Given the description of an element on the screen output the (x, y) to click on. 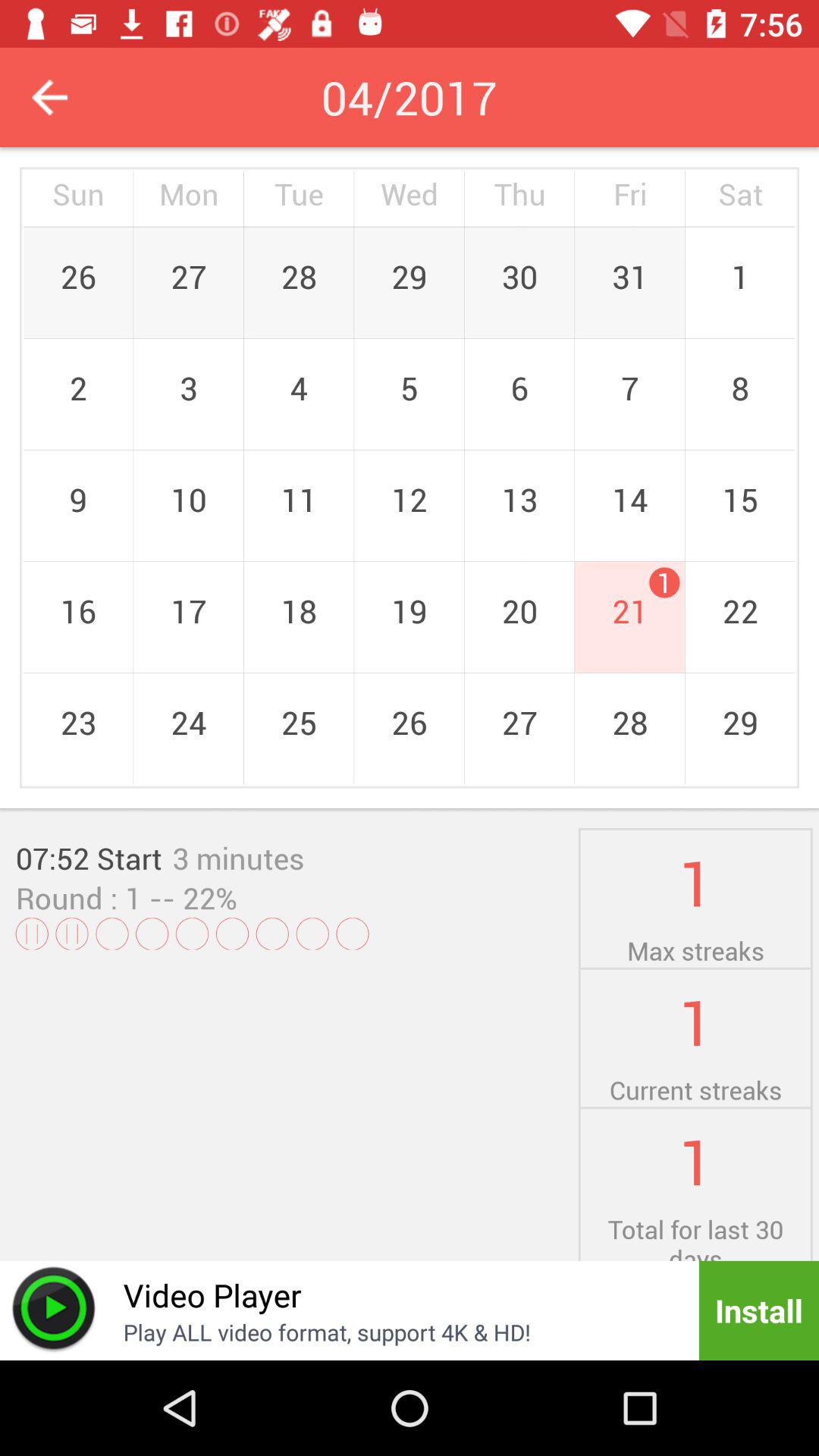
click on play symbol icon beside video player at the bottom of the page (54, 1310)
